Given the description of an element on the screen output the (x, y) to click on. 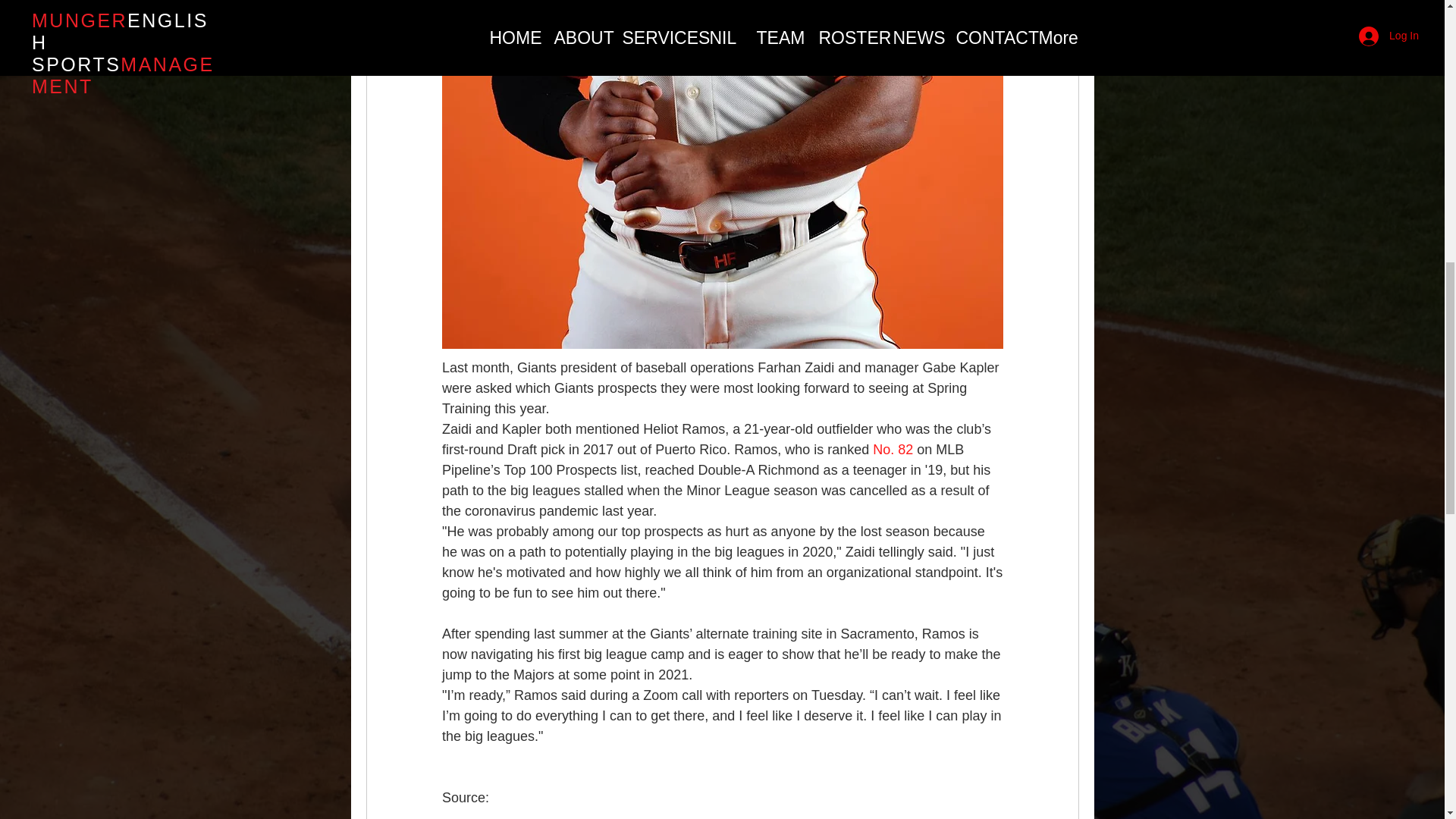
No. 82 (892, 449)
